Given the description of an element on the screen output the (x, y) to click on. 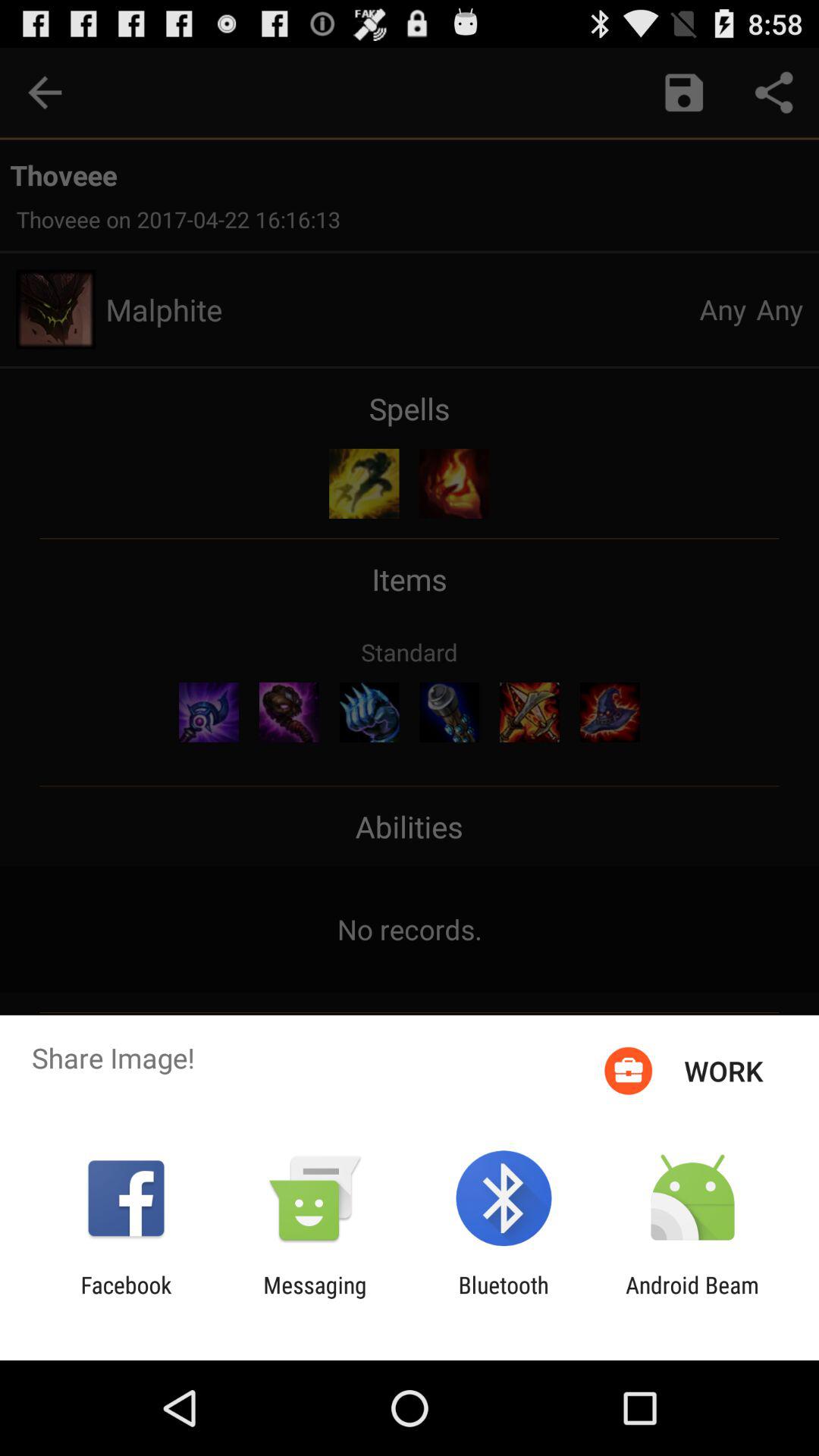
choose item next to the facebook icon (314, 1298)
